Given the description of an element on the screen output the (x, y) to click on. 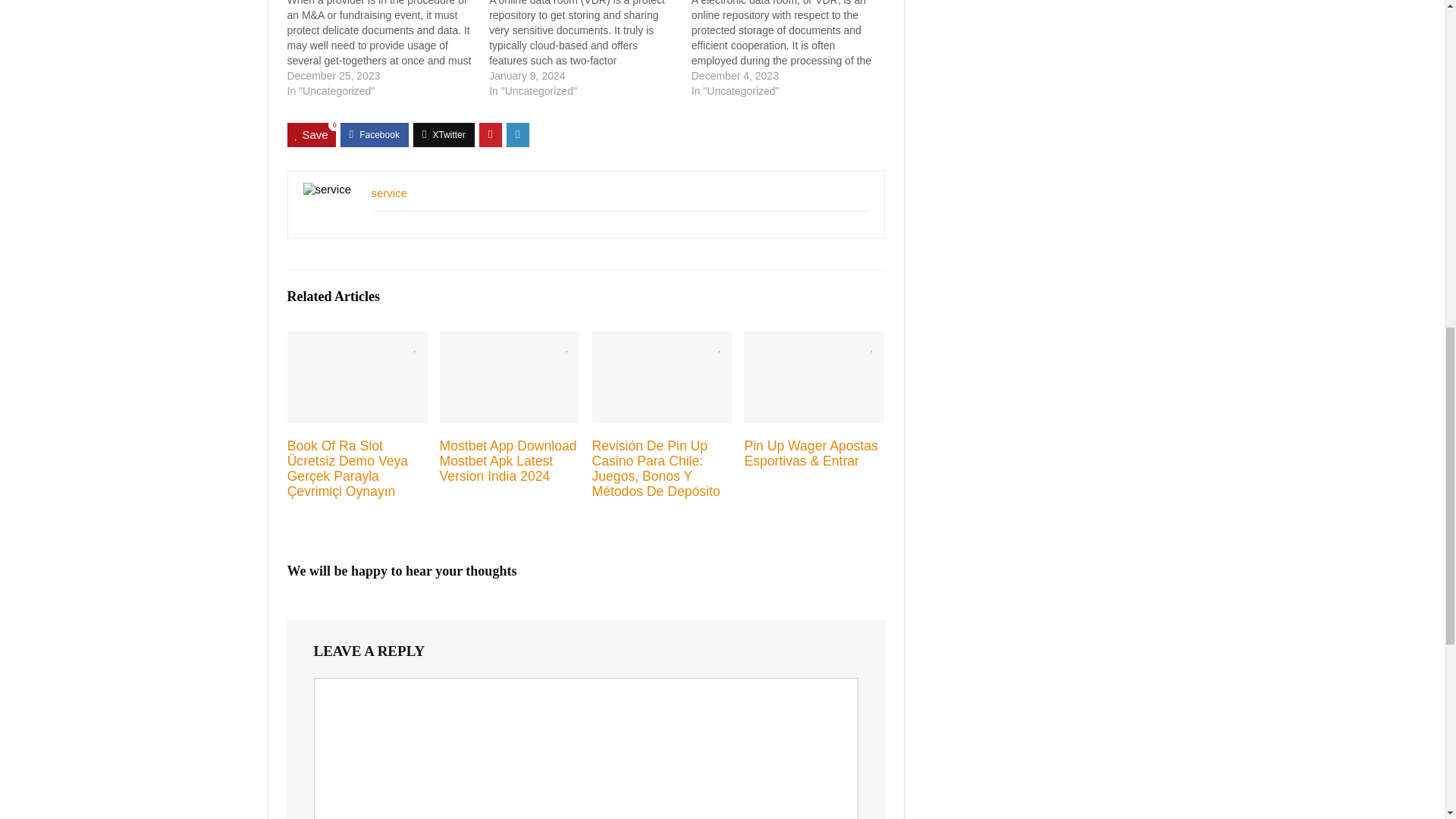
Utilizing a Data Place to Protect Secret Documents and Data (387, 49)
service (389, 192)
Choosing Virtual Info Room Alternatives (590, 49)
Precisely what are the Advantages of your Virtual Data Room? (792, 49)
Mostbet App Download Mostbet Apk Latest Version India 2024 (507, 461)
